Given the description of an element on the screen output the (x, y) to click on. 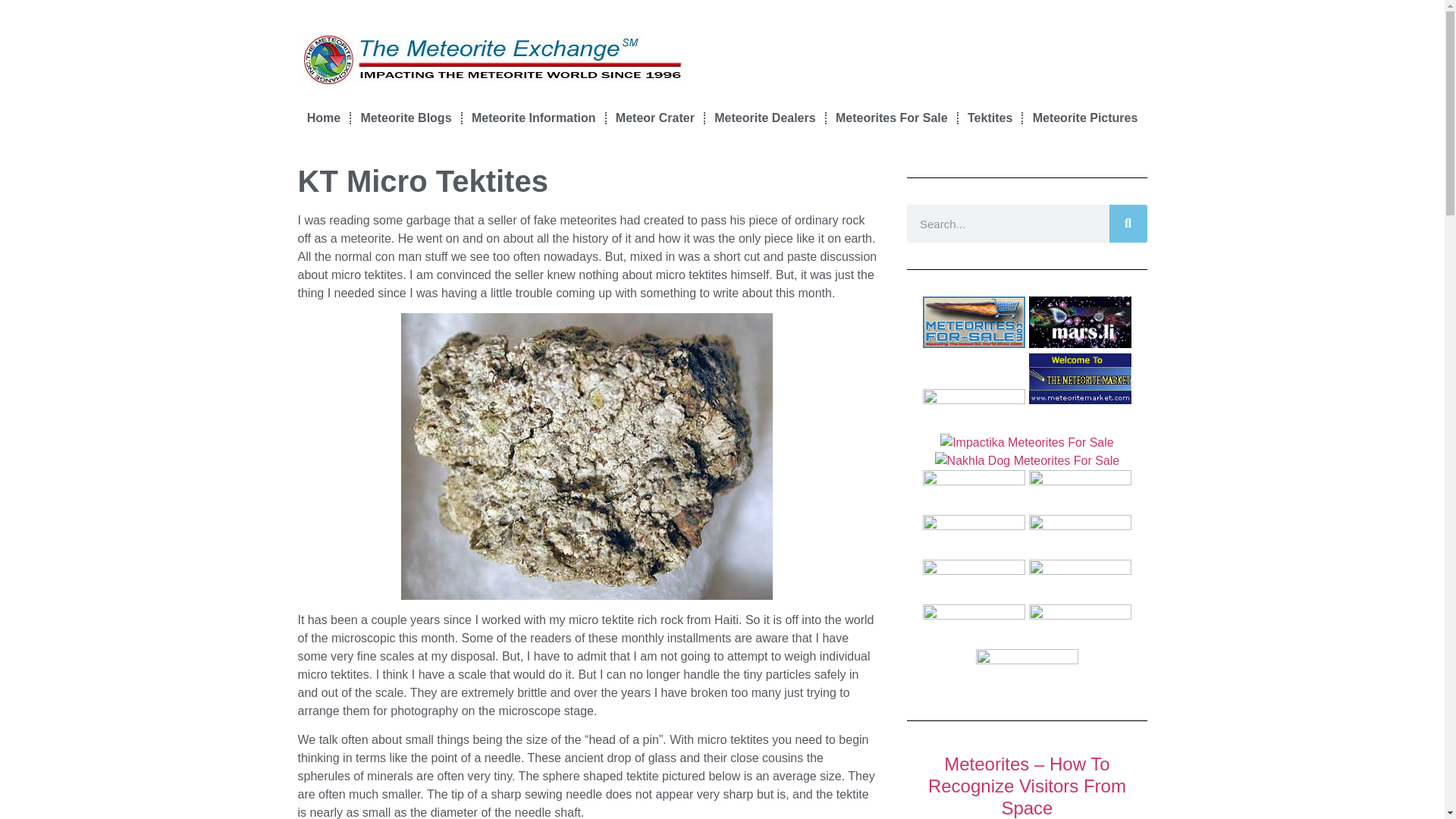
Meteorite Dealers (764, 117)
Southwest Meteorite Lab (974, 492)
Meteorite Market (1080, 378)
Meteorite Pictures (1085, 117)
Erich's mars.li (1080, 322)
Impactika Meteorites For Sale (1026, 443)
Meteorite (323, 117)
Meteor Crater (655, 117)
kt-hand-sample (587, 455)
Home (323, 117)
